Given the description of an element on the screen output the (x, y) to click on. 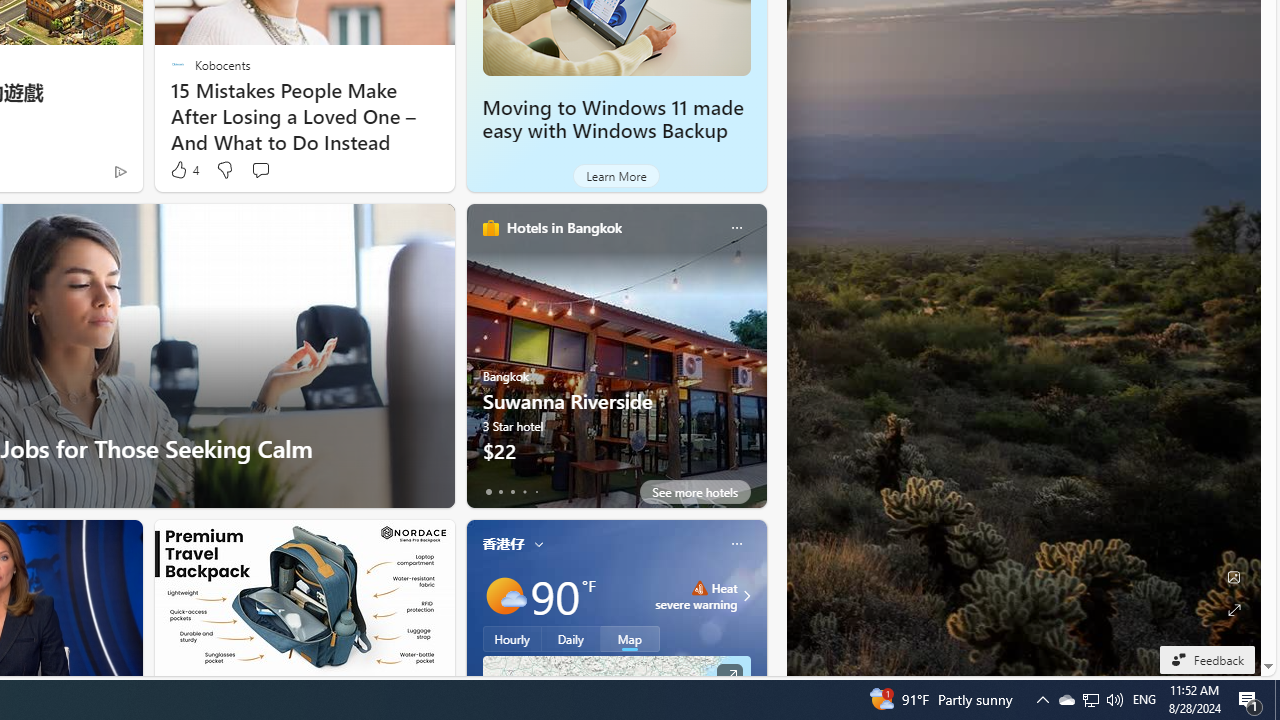
Learn More (616, 175)
Moving to Windows 11 made easy with Windows Backup (612, 119)
Expand background (1233, 610)
Class: icon-img (736, 543)
Mostly sunny (504, 595)
Ad Choice (119, 171)
Click to see more information (728, 676)
tab-2 (511, 491)
Start the conversation (260, 170)
Feedback (1206, 659)
Class: weather-arrow-glyph (746, 595)
Dislike (224, 170)
tab-4 (535, 491)
tab-1 (500, 491)
